Given the description of an element on the screen output the (x, y) to click on. 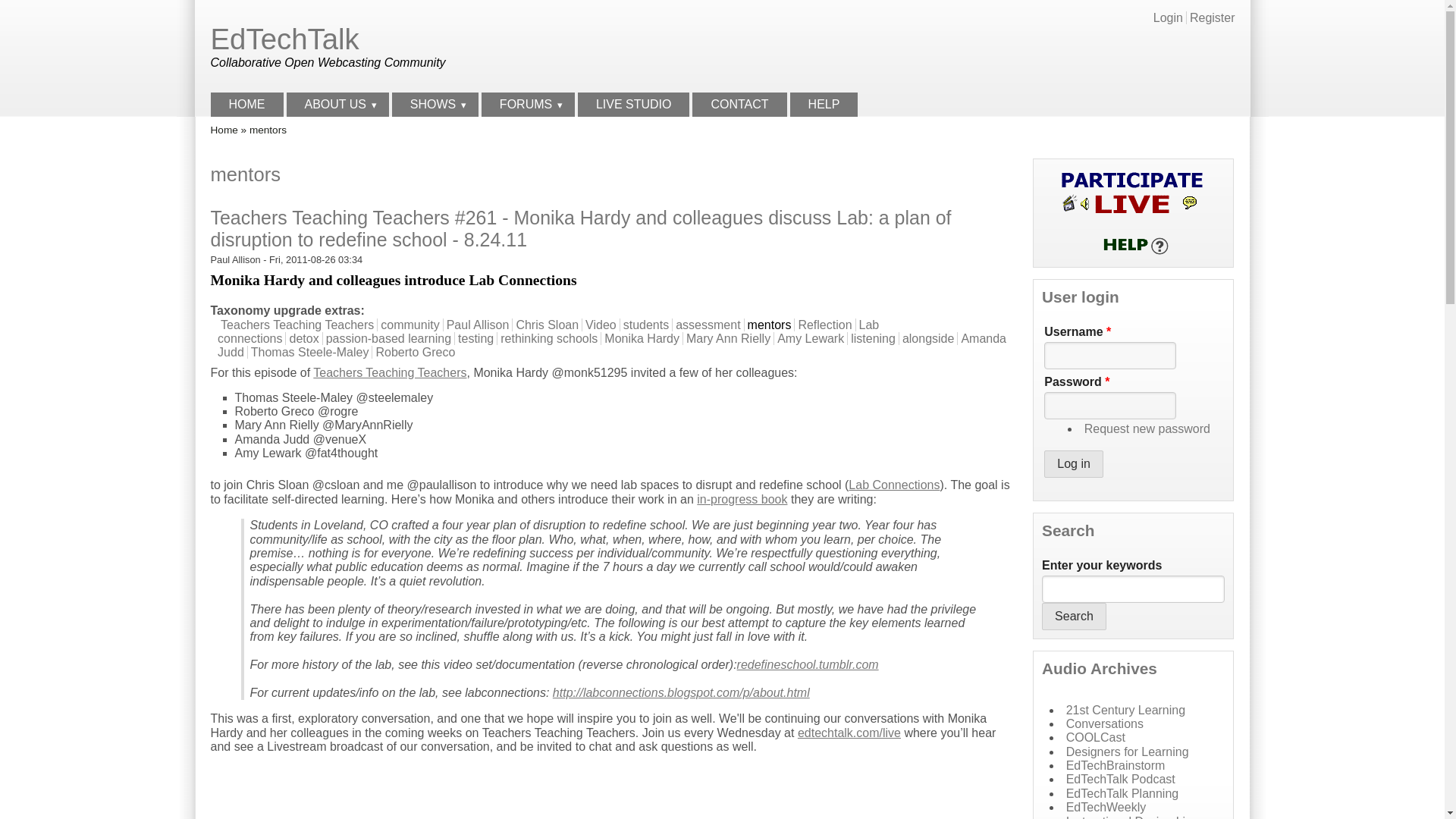
CONTACT (739, 104)
HELP (824, 104)
Search (1074, 615)
Home (224, 129)
EdTechTalk (285, 38)
Advertisement (1059, 47)
ABOUT US (337, 104)
SHOWS (435, 104)
LIVE STUDIO (634, 104)
Log in (1073, 463)
Home (285, 38)
Register (1211, 17)
Login (1167, 17)
